Given the description of an element on the screen output the (x, y) to click on. 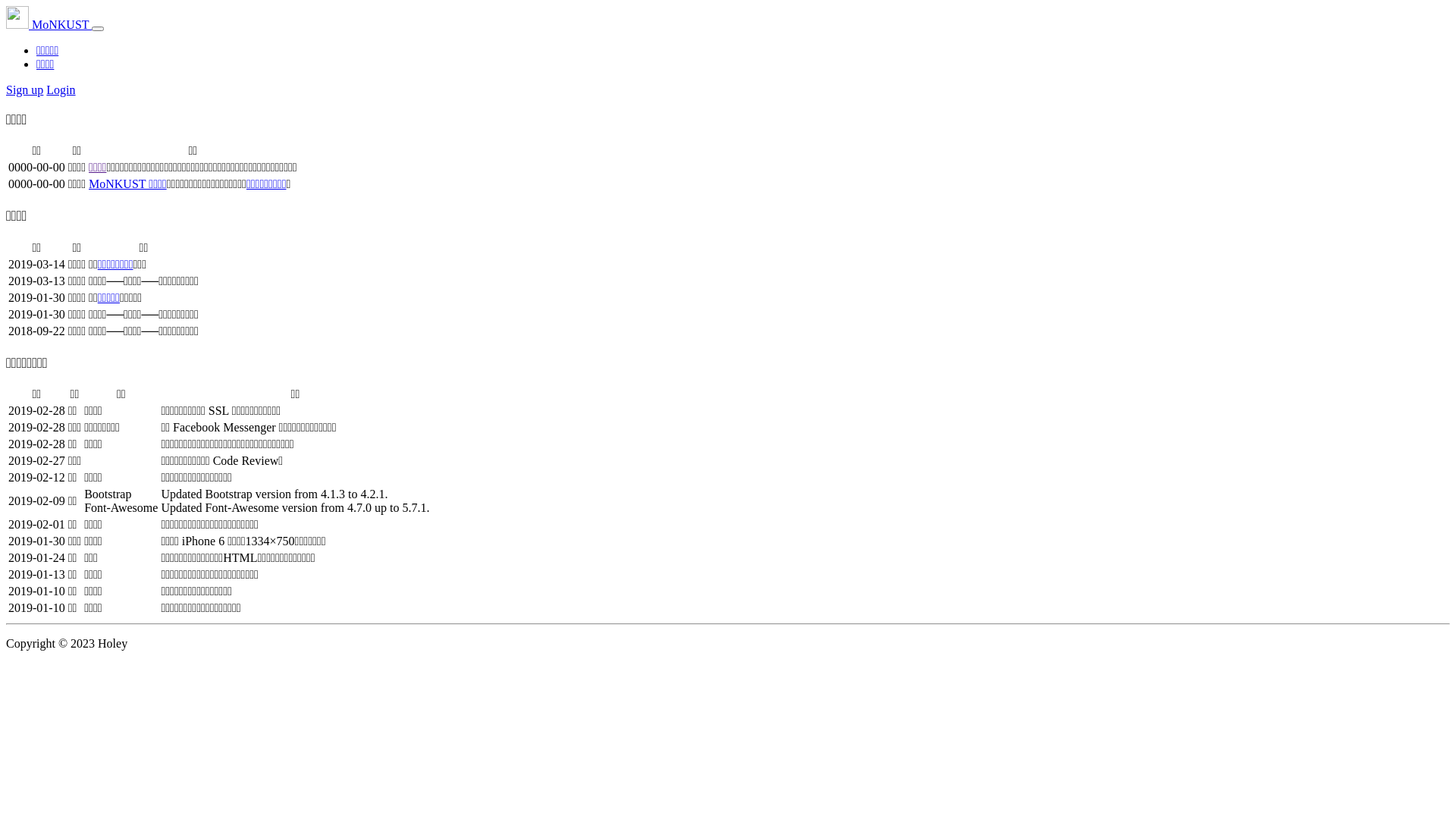
Login Element type: text (60, 89)
Sign up Element type: text (24, 89)
MoNKUST Element type: text (48, 24)
